Given the description of an element on the screen output the (x, y) to click on. 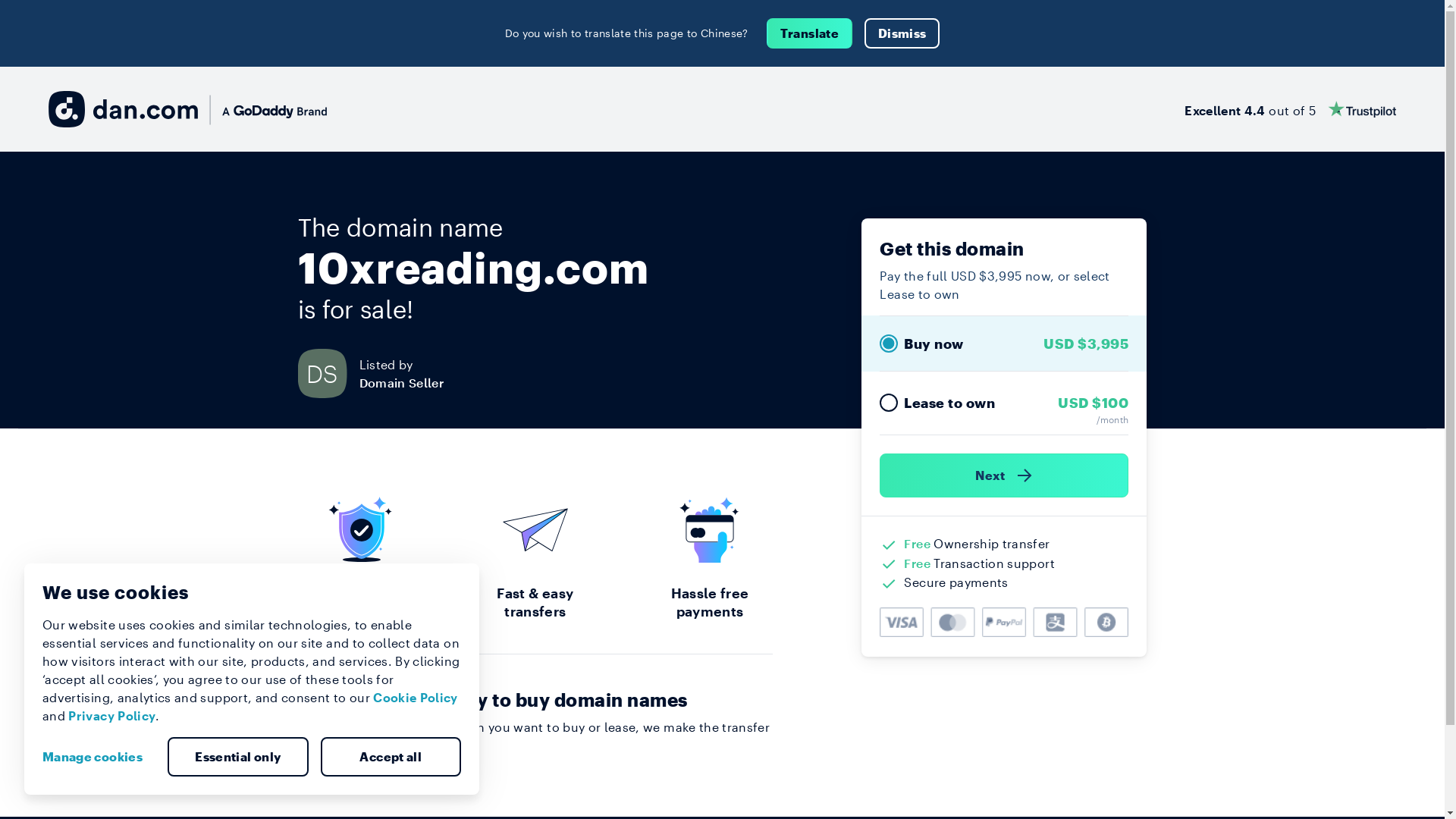
Manage cookies Element type: text (98, 756)
Dismiss Element type: text (901, 33)
Privacy Policy Element type: text (111, 715)
Cookie Policy Element type: text (415, 697)
Next
) Element type: text (1003, 475)
Accept all Element type: text (390, 756)
Excellent 4.4 out of 5 Element type: text (1290, 109)
Essential only Element type: text (237, 756)
Translate Element type: text (809, 33)
